Given the description of an element on the screen output the (x, y) to click on. 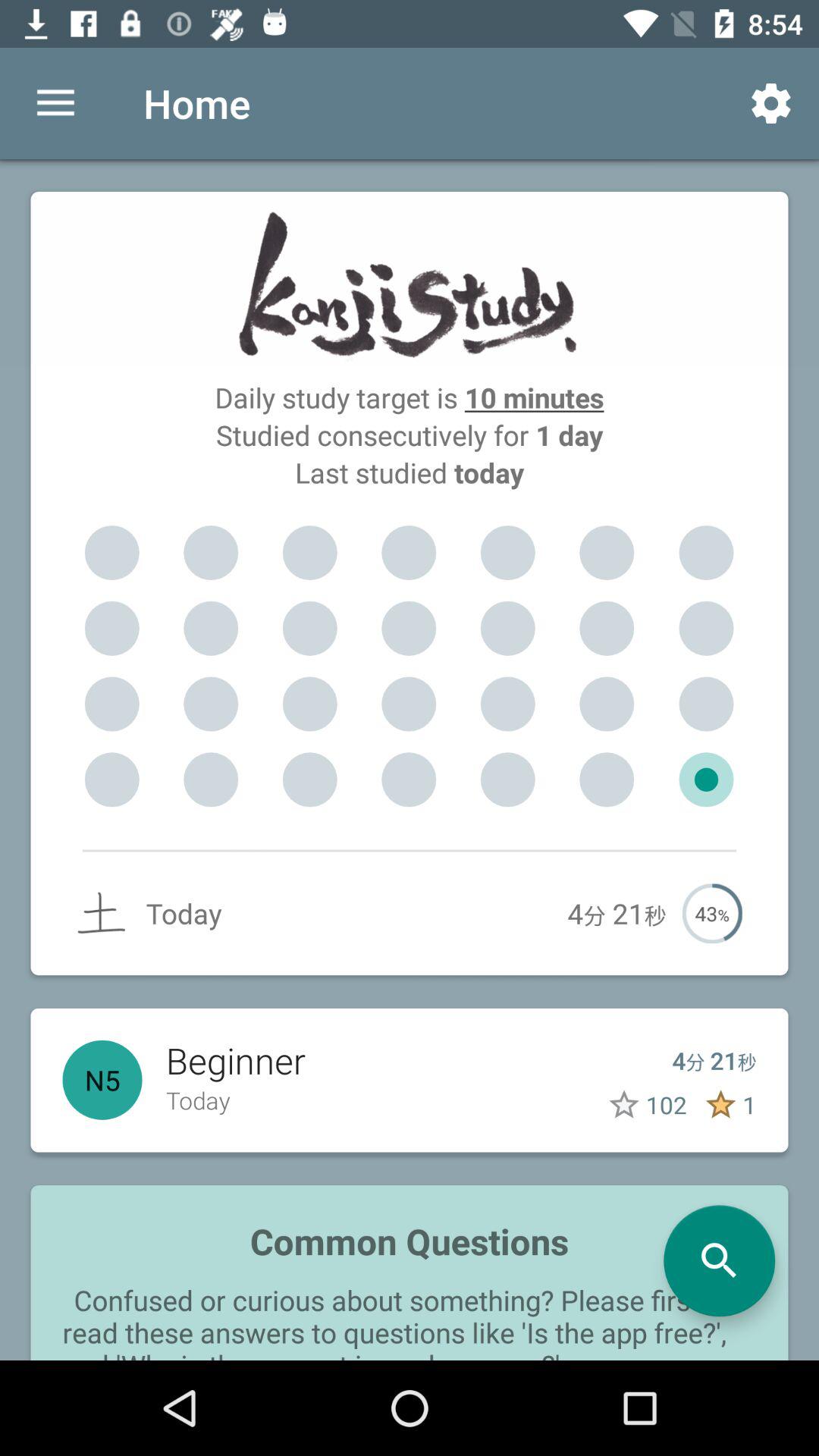
go to search (719, 1260)
